Given the description of an element on the screen output the (x, y) to click on. 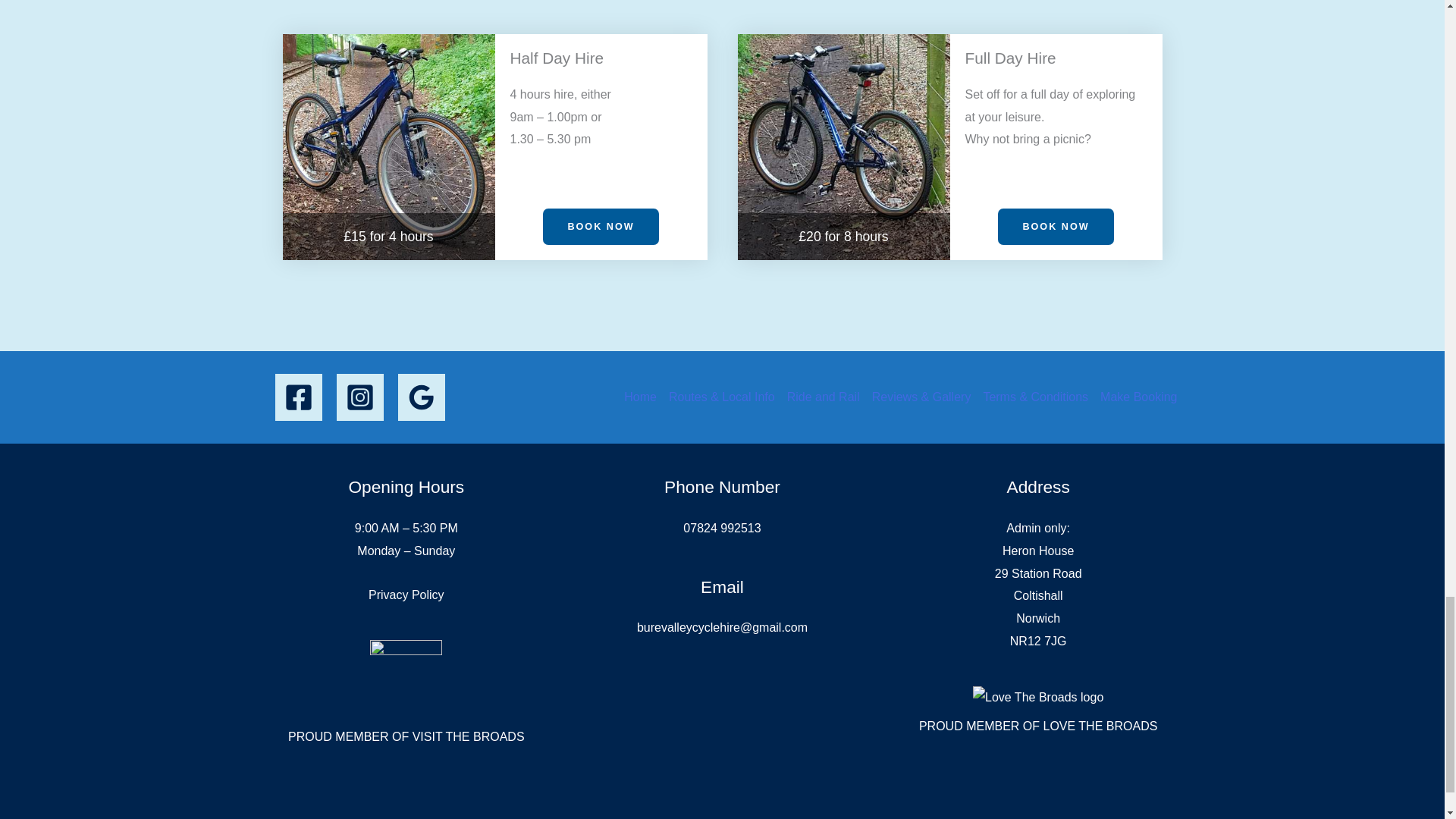
Make Booking (1135, 385)
BOOK NOW (600, 226)
Ride and Rail (823, 385)
Home (643, 385)
Privacy Policy (406, 594)
BOOK NOW (1055, 226)
